Given the description of an element on the screen output the (x, y) to click on. 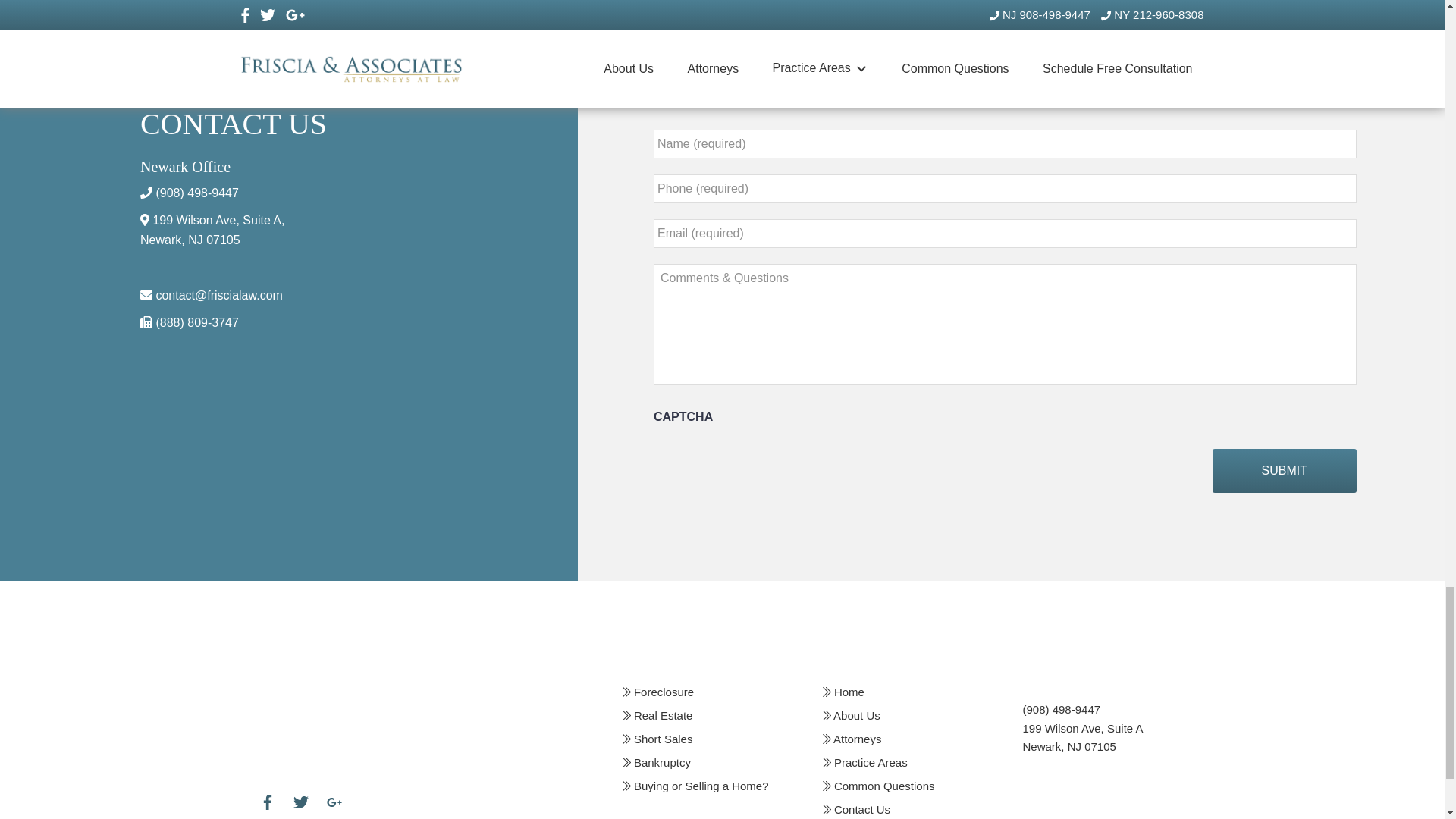
Submit (1284, 470)
